Given the description of an element on the screen output the (x, y) to click on. 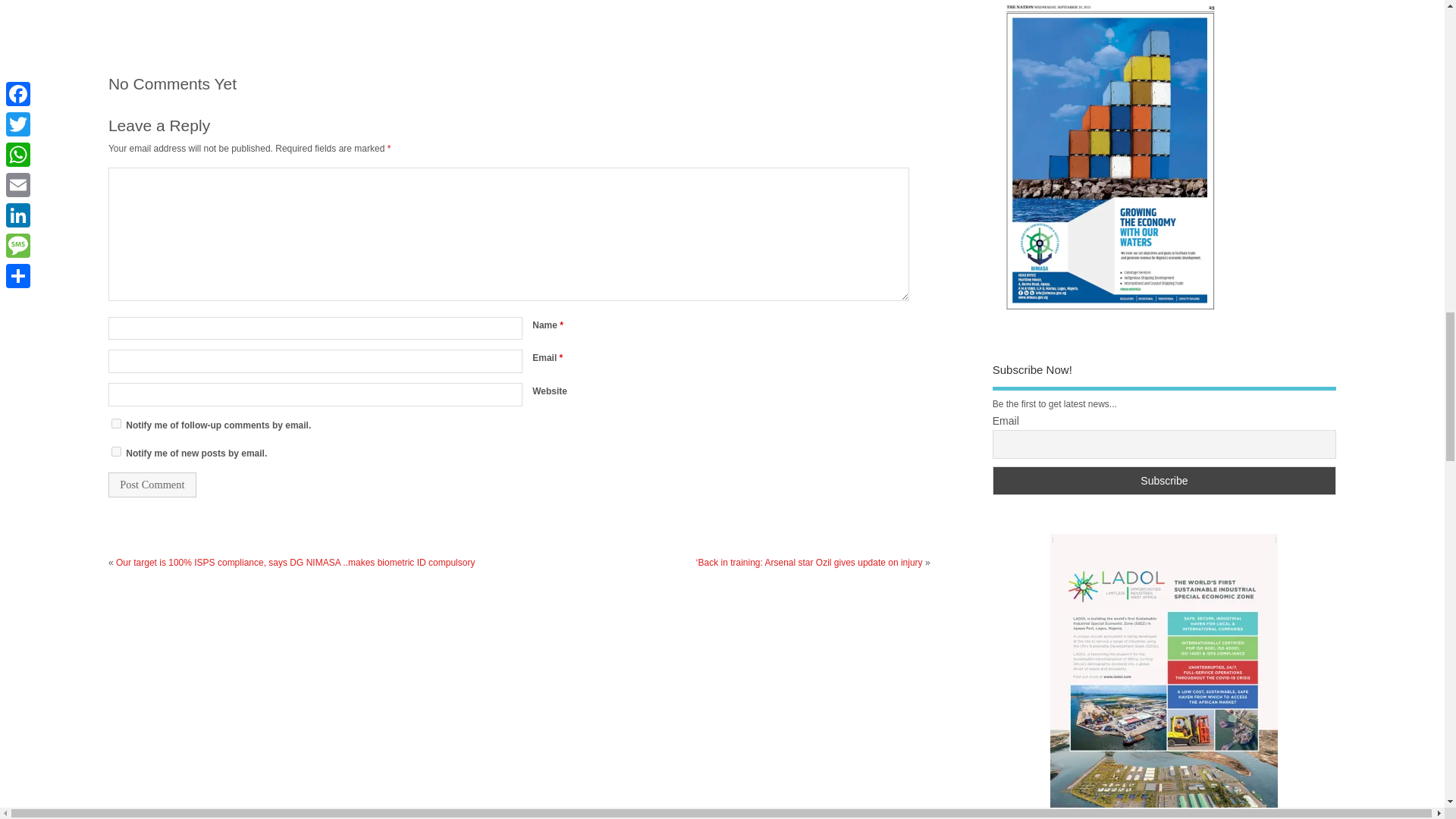
Subscribe (1164, 480)
Post Comment (151, 484)
subscribe (116, 451)
Subscribe (1164, 480)
Post Comment (151, 484)
subscribe (116, 423)
